Given the description of an element on the screen output the (x, y) to click on. 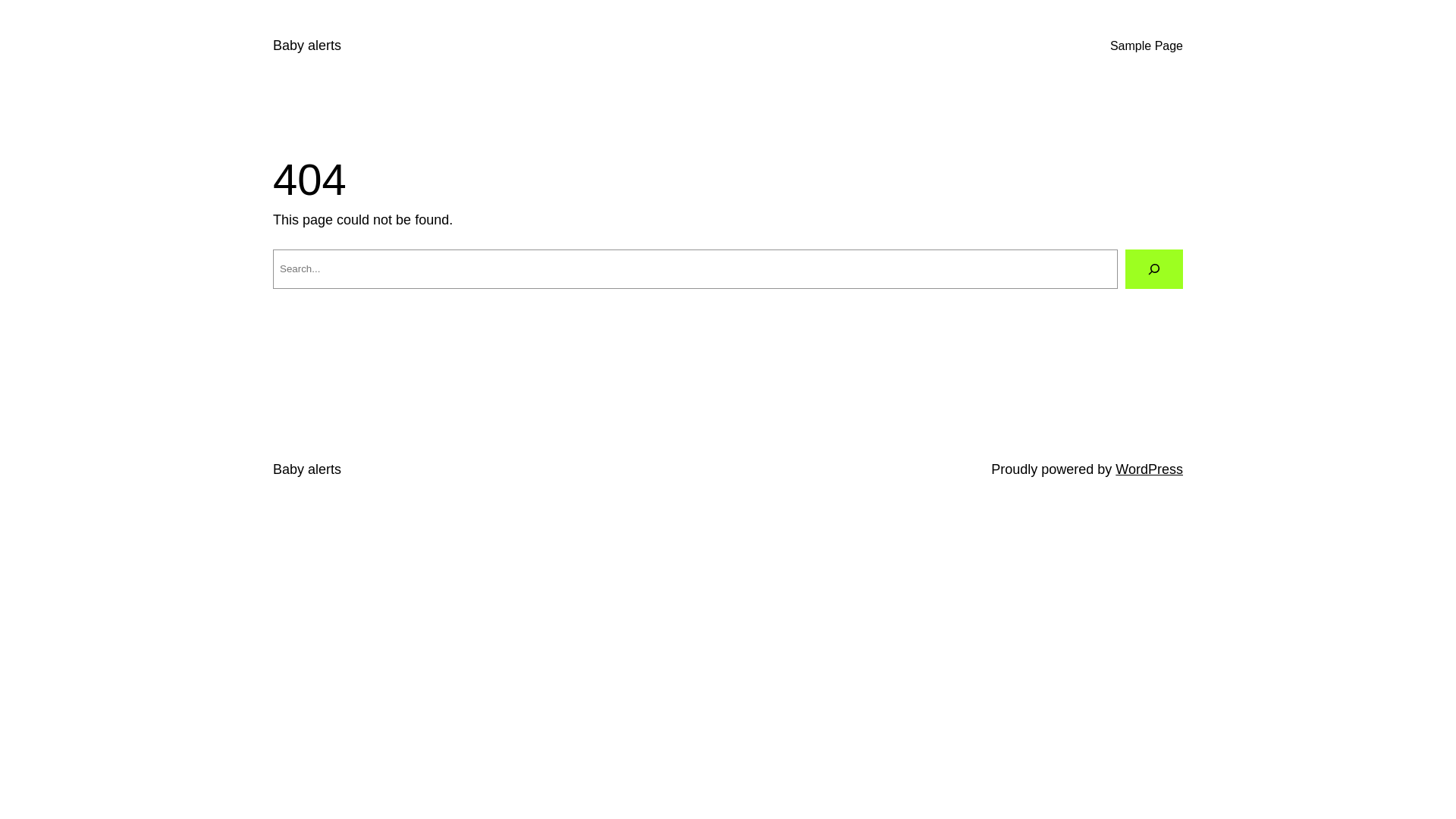
WordPress Element type: text (1149, 468)
Baby alerts Element type: text (307, 468)
Sample Page Element type: text (1146, 46)
Baby alerts Element type: text (307, 45)
